Given the description of an element on the screen output the (x, y) to click on. 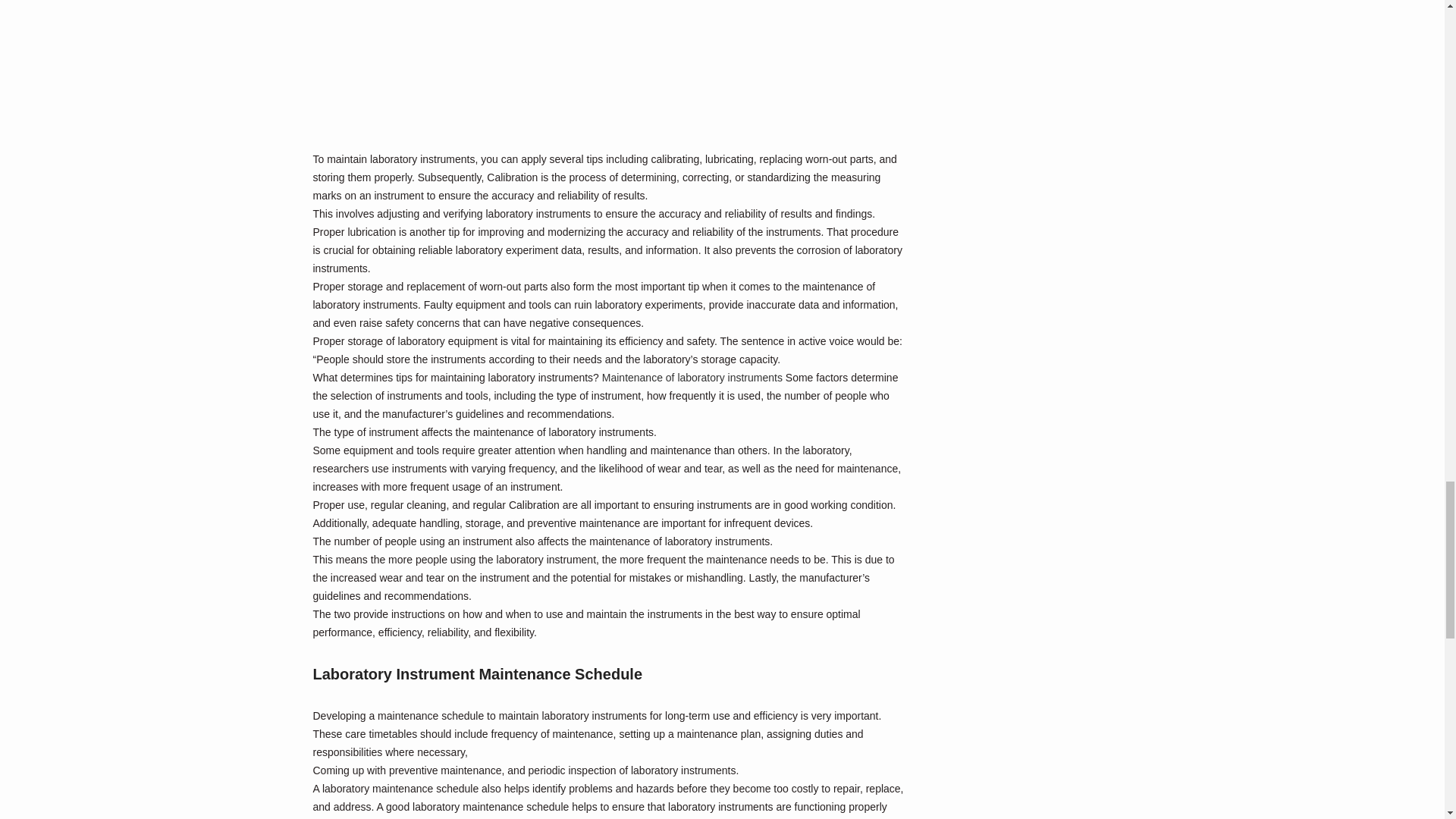
Maintenance of laboratory instruments (692, 377)
